Given the description of an element on the screen output the (x, y) to click on. 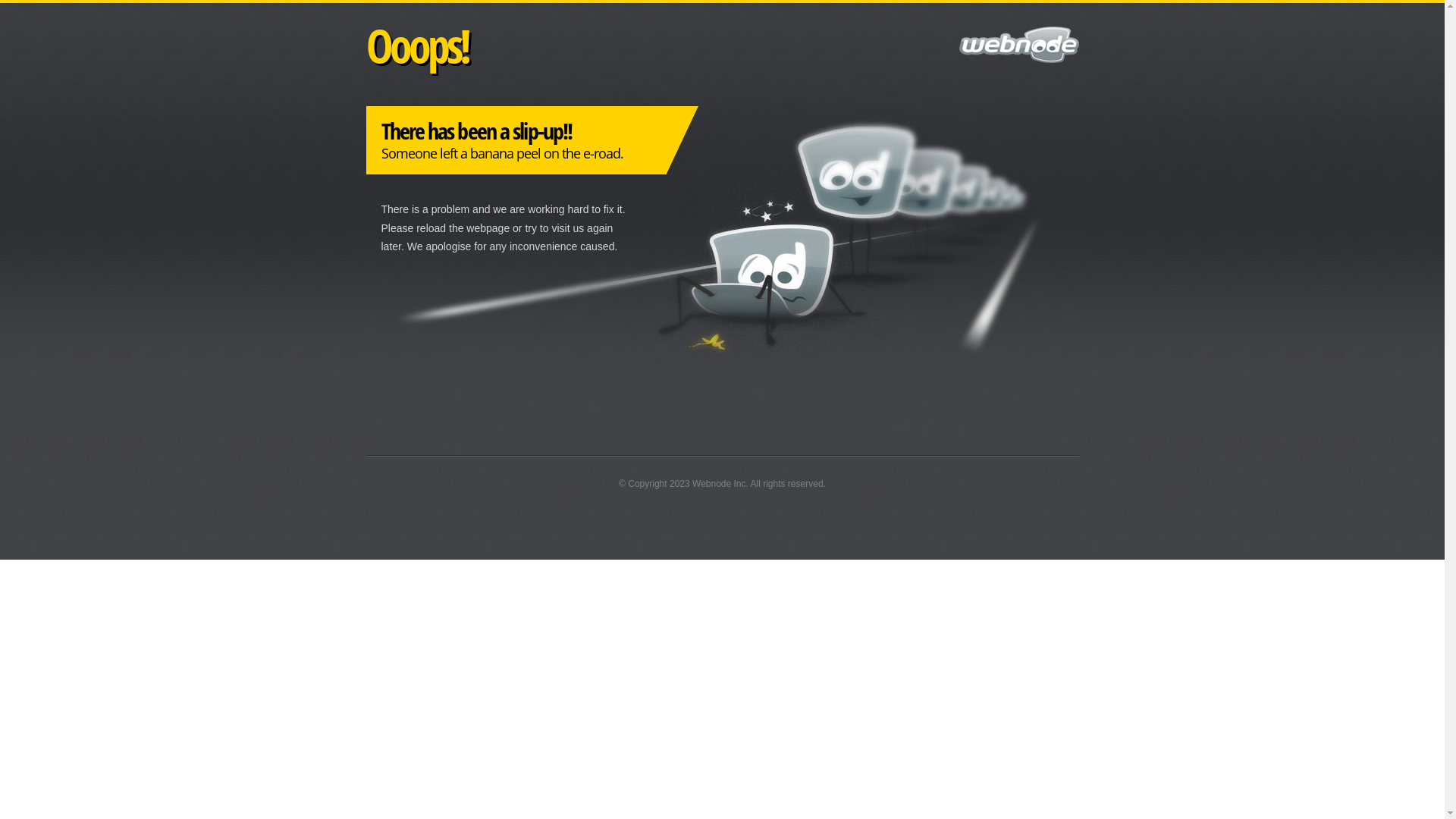
Webnode Inc Element type: text (719, 483)
